Given the description of an element on the screen output the (x, y) to click on. 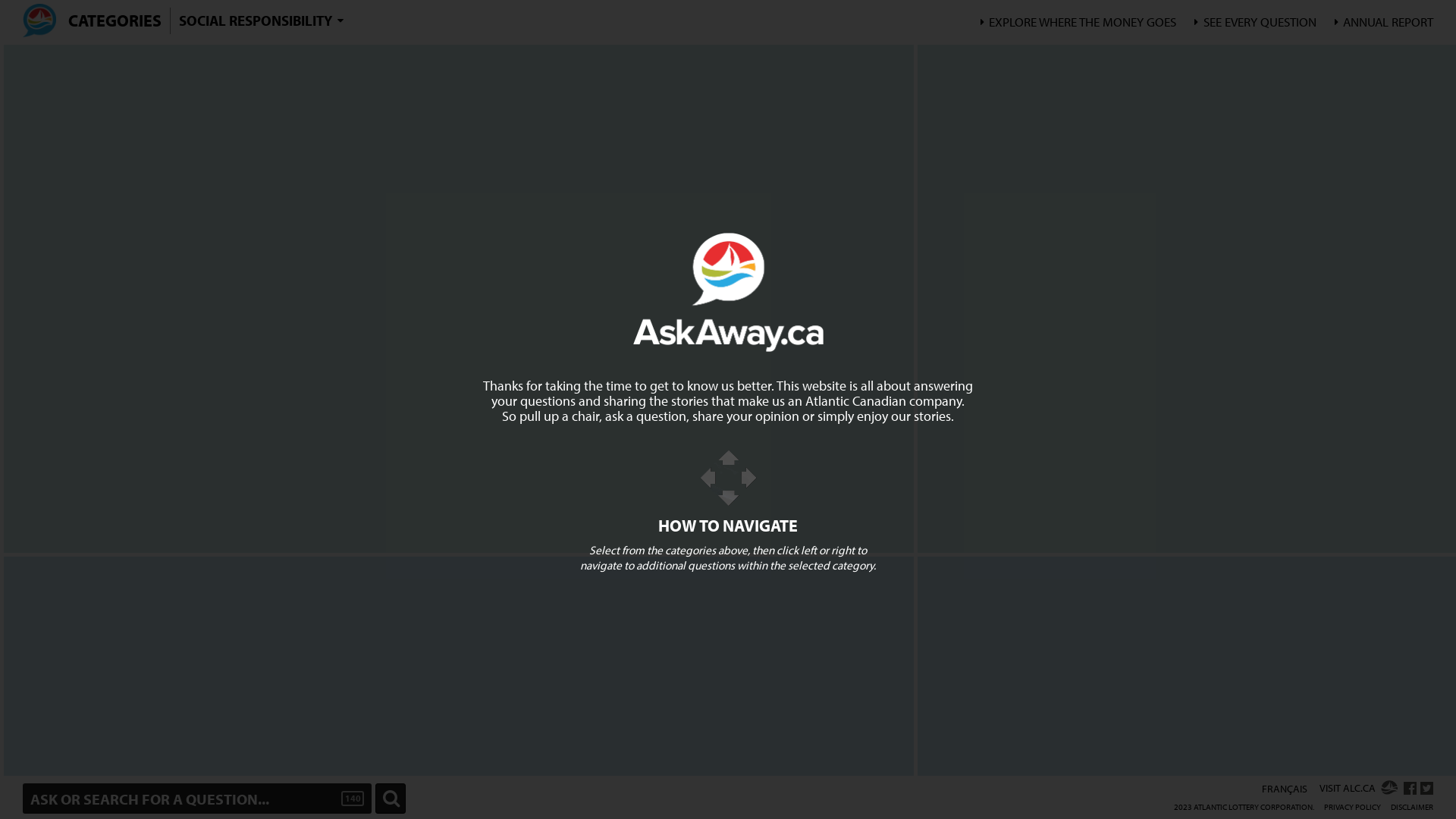
DISCLAIMER Element type: text (1411, 806)
SEE EVERY QUESTION Element type: text (1255, 21)
ALC.CA Element type: hover (1388, 787)
Share on Twitter Element type: hover (1426, 787)
Home Element type: hover (39, 20)
ALC FACEBOOK Element type: text (1408, 787)
Ask Element type: text (390, 799)
ALC TWITTER Element type: text (1426, 787)
VISIT ALC.CA Element type: text (1358, 789)
EXPLORE WHERE THE MONEY GOES Element type: text (1077, 21)
PRIVACY POLICY Element type: text (1352, 806)
SOCIAL RESPONSIBILITY Element type: text (260, 20)
ALC Facebook Element type: hover (1408, 787)
ANNUAL REPORT Element type: text (1384, 21)
